Given the description of an element on the screen output the (x, y) to click on. 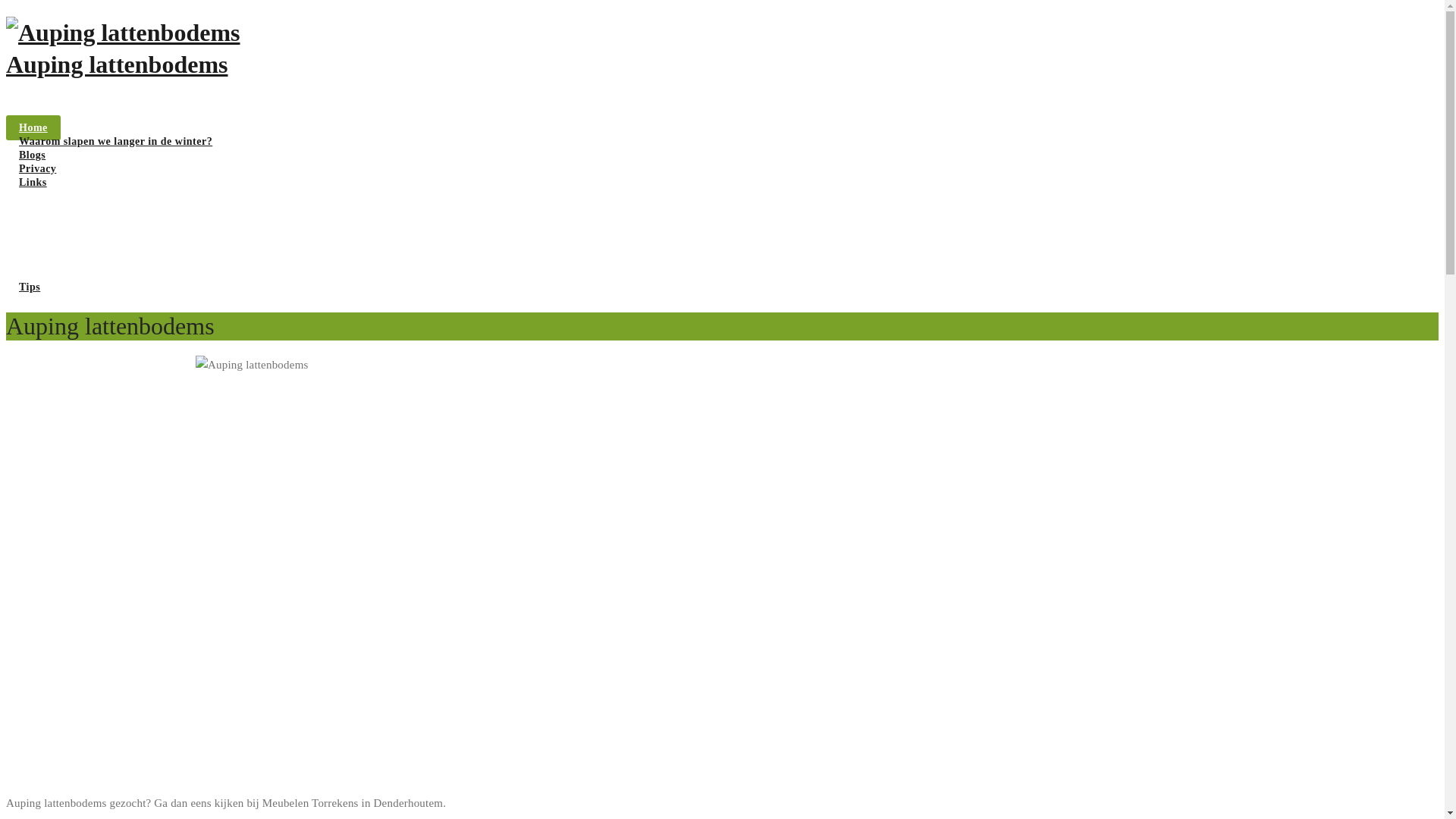
Skip to content Element type: text (6, 6)
Waarom slapen we langer in de winter? Element type: text (115, 140)
Privacy Element type: text (37, 168)
Blogs Element type: text (32, 154)
Tips Element type: text (29, 286)
Links Element type: text (32, 181)
Auping lattenbodems Element type: text (722, 82)
Home Element type: text (33, 127)
